Given the description of an element on the screen output the (x, y) to click on. 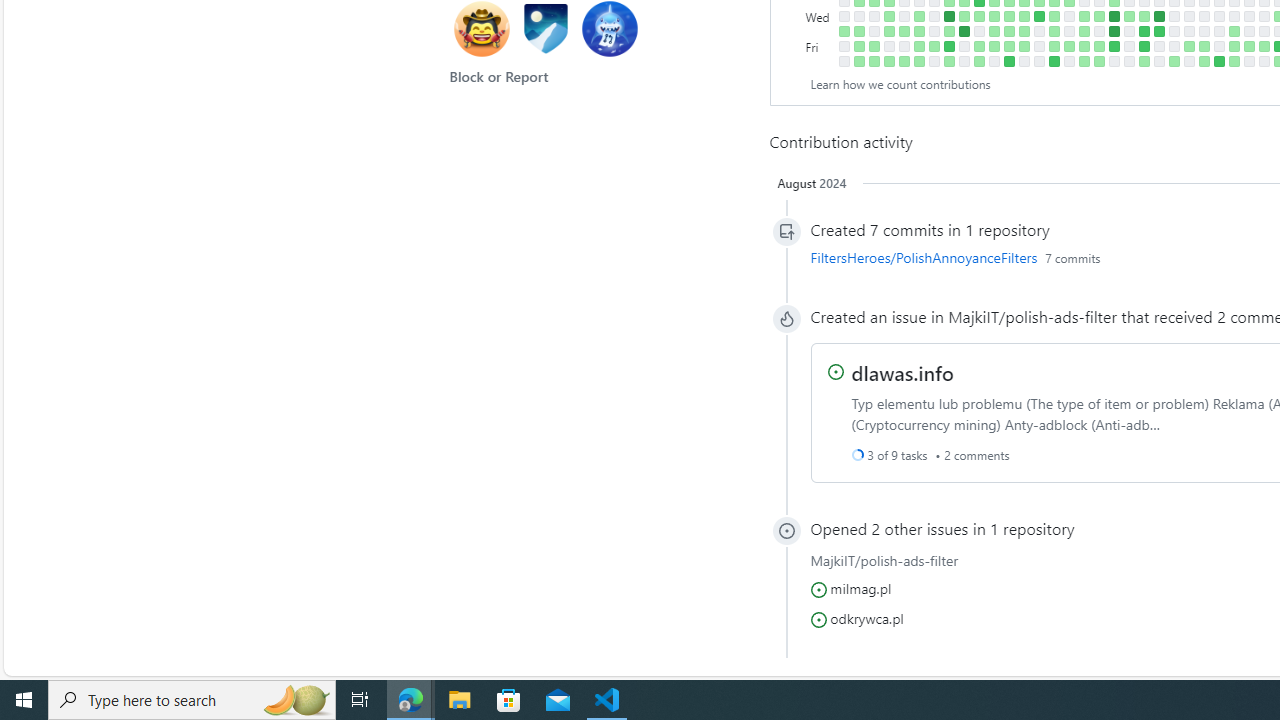
No contributions on January 19th. (1158, 46)
Wednesday (819, 16)
3 contributions on October 27th. (978, 46)
No contributions on September 22nd. (904, 46)
6 contributions on October 13th. (948, 46)
No contributions on February 29th. (1248, 30)
No contributions on September 7th. (873, 30)
6 contributions on January 18th. (1158, 30)
8 contributions on November 11th. (1009, 61)
1 contribution on October 28th. (978, 61)
3 contributions on September 13th. (888, 16)
2 contributions on February 24th. (1233, 61)
No contributions on March 6th. (1263, 16)
Thursday (819, 30)
4 contributions on January 27th. (1173, 61)
